Given the description of an element on the screen output the (x, y) to click on. 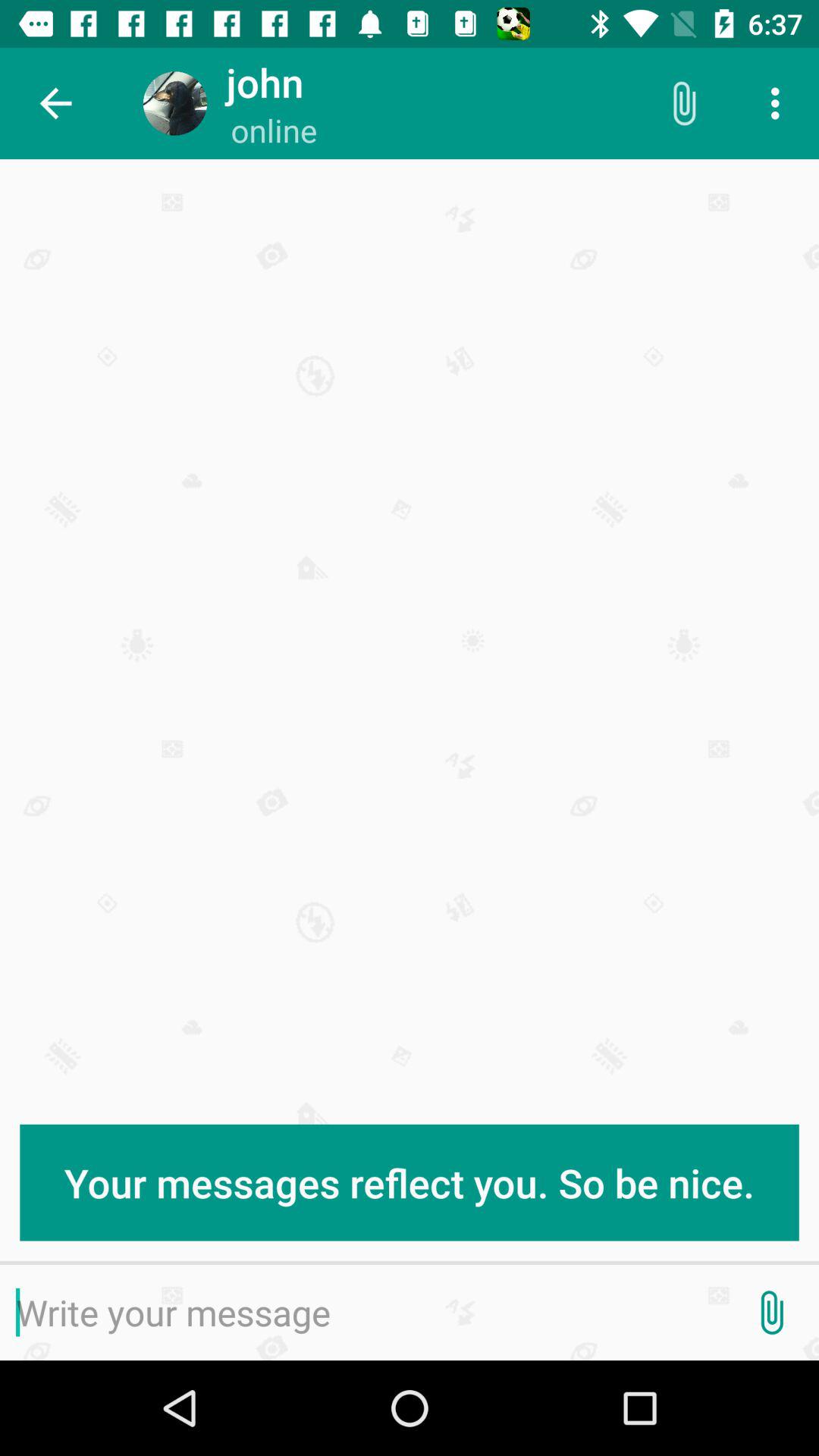
add attachment (771, 1312)
